Given the description of an element on the screen output the (x, y) to click on. 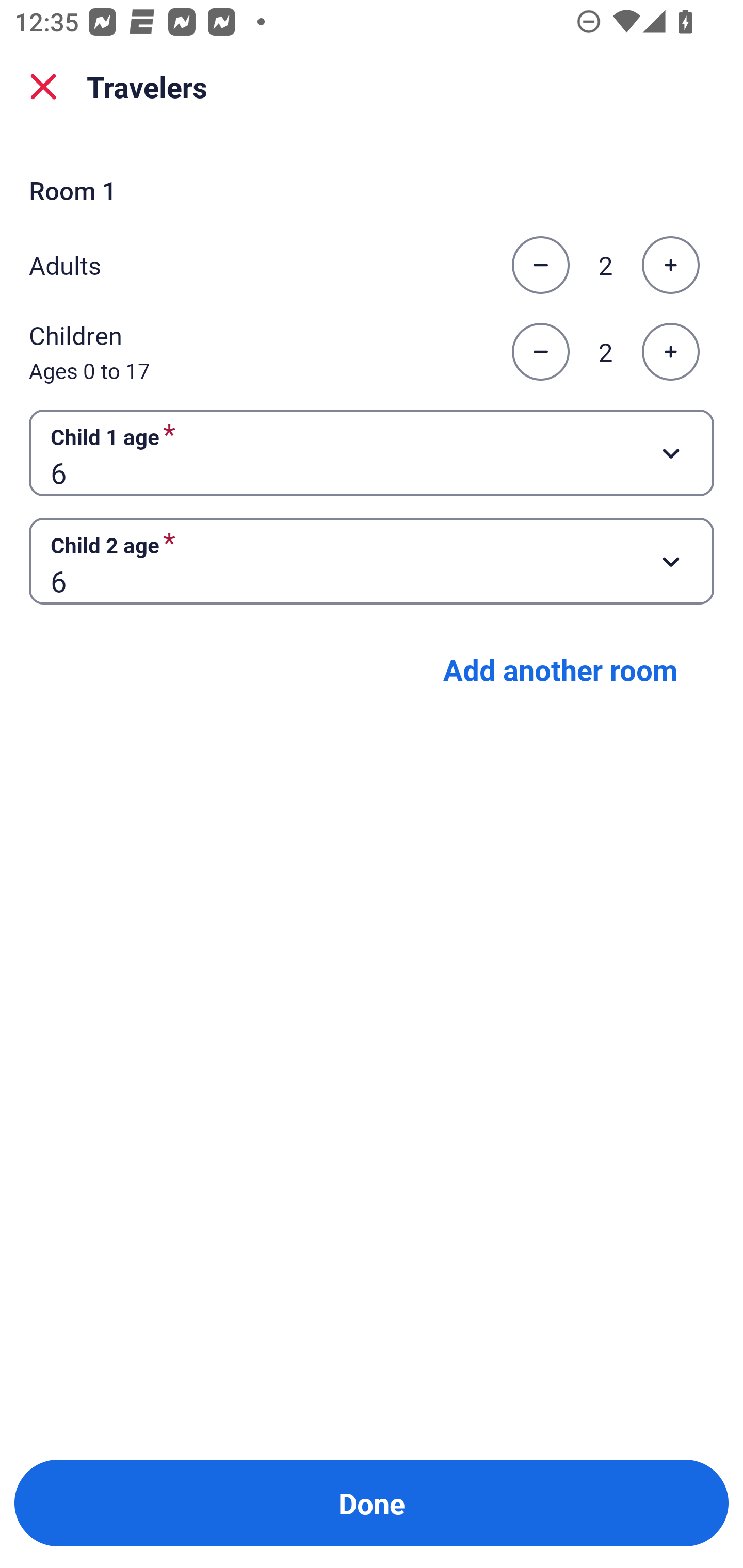
close (43, 86)
Decrease the number of adults (540, 264)
Increase the number of adults (670, 264)
Decrease the number of children (540, 351)
Increase the number of children (670, 351)
Child 1 age required Button 6 (371, 452)
Child 2 age required Button 6 (371, 561)
Add another room (560, 669)
Done (371, 1502)
